Given the description of an element on the screen output the (x, y) to click on. 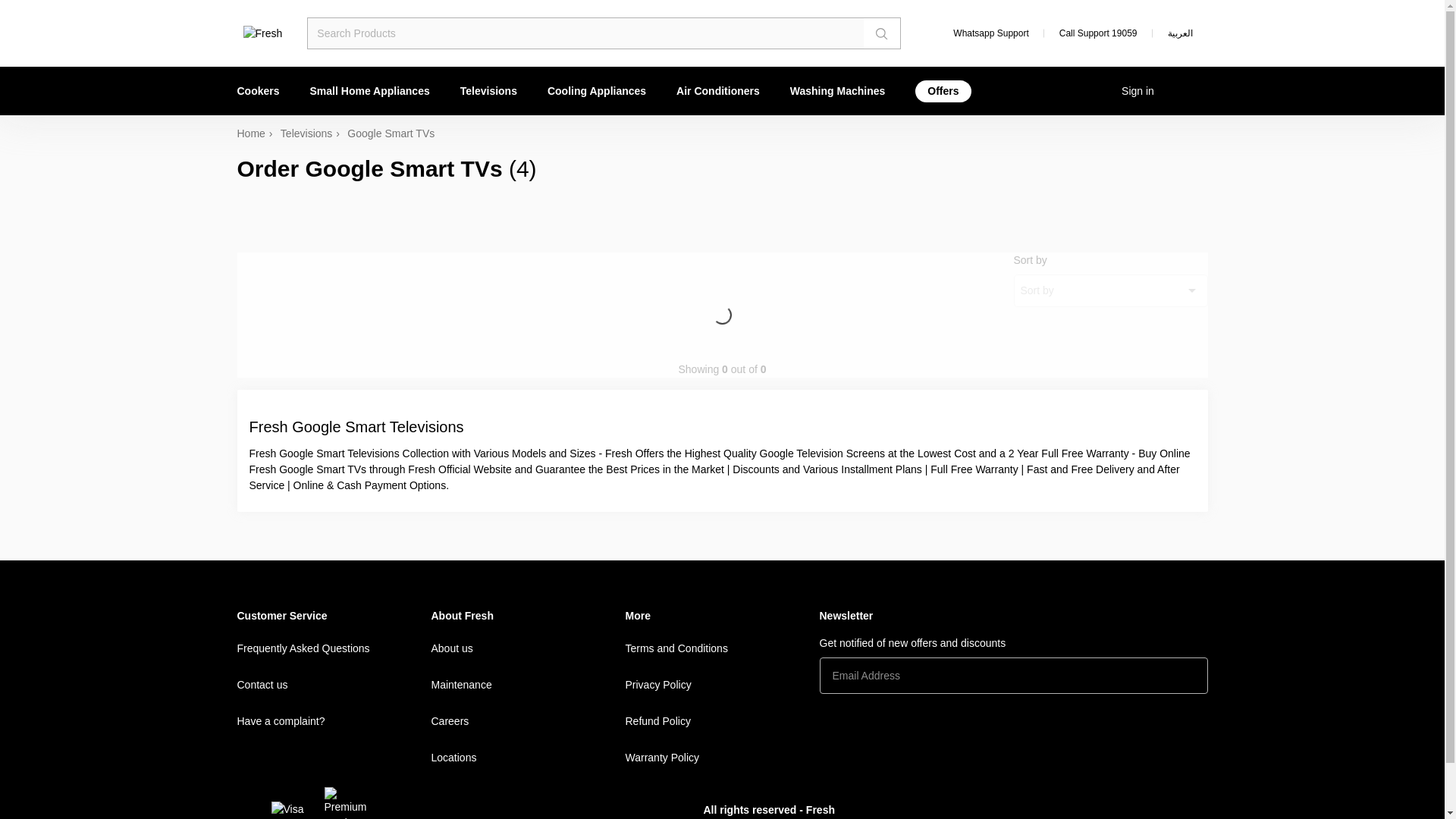
Cookers (264, 90)
Call Support 19059 (1098, 33)
Whatsapp Support (980, 33)
Contact us (332, 684)
Offers (942, 90)
Cooling Appliances (596, 90)
Televisions (314, 133)
Home (257, 133)
Televisions (488, 90)
Frequently Asked Questions (332, 647)
Air Conditioners (717, 90)
Washing Machines (837, 90)
Have a complaint? (332, 720)
Small Home Appliances (370, 90)
